Given the description of an element on the screen output the (x, y) to click on. 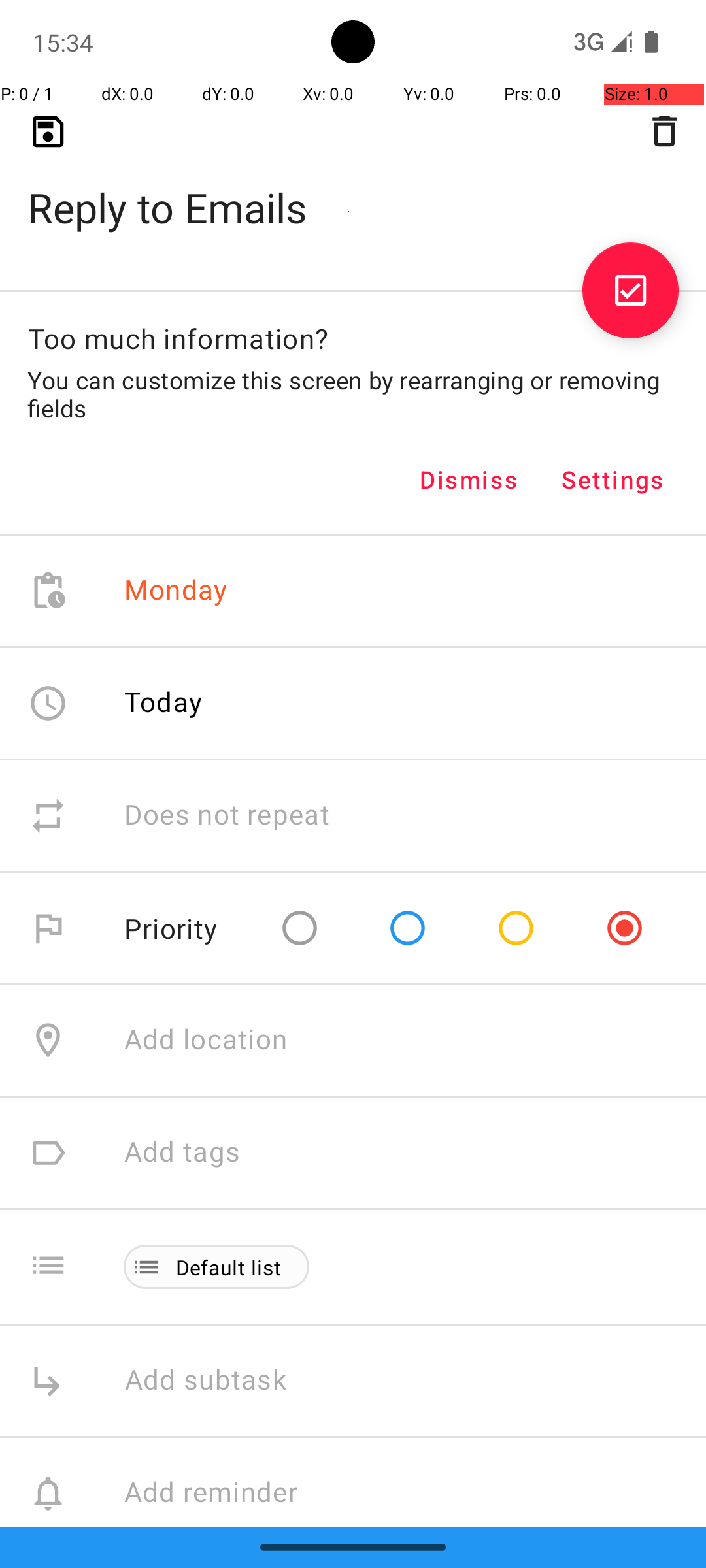
Reply to Emails Element type: android.widget.EditText (353, 186)
Add reminder Element type: android.widget.TextView (224, 1493)
